Given the description of an element on the screen output the (x, y) to click on. 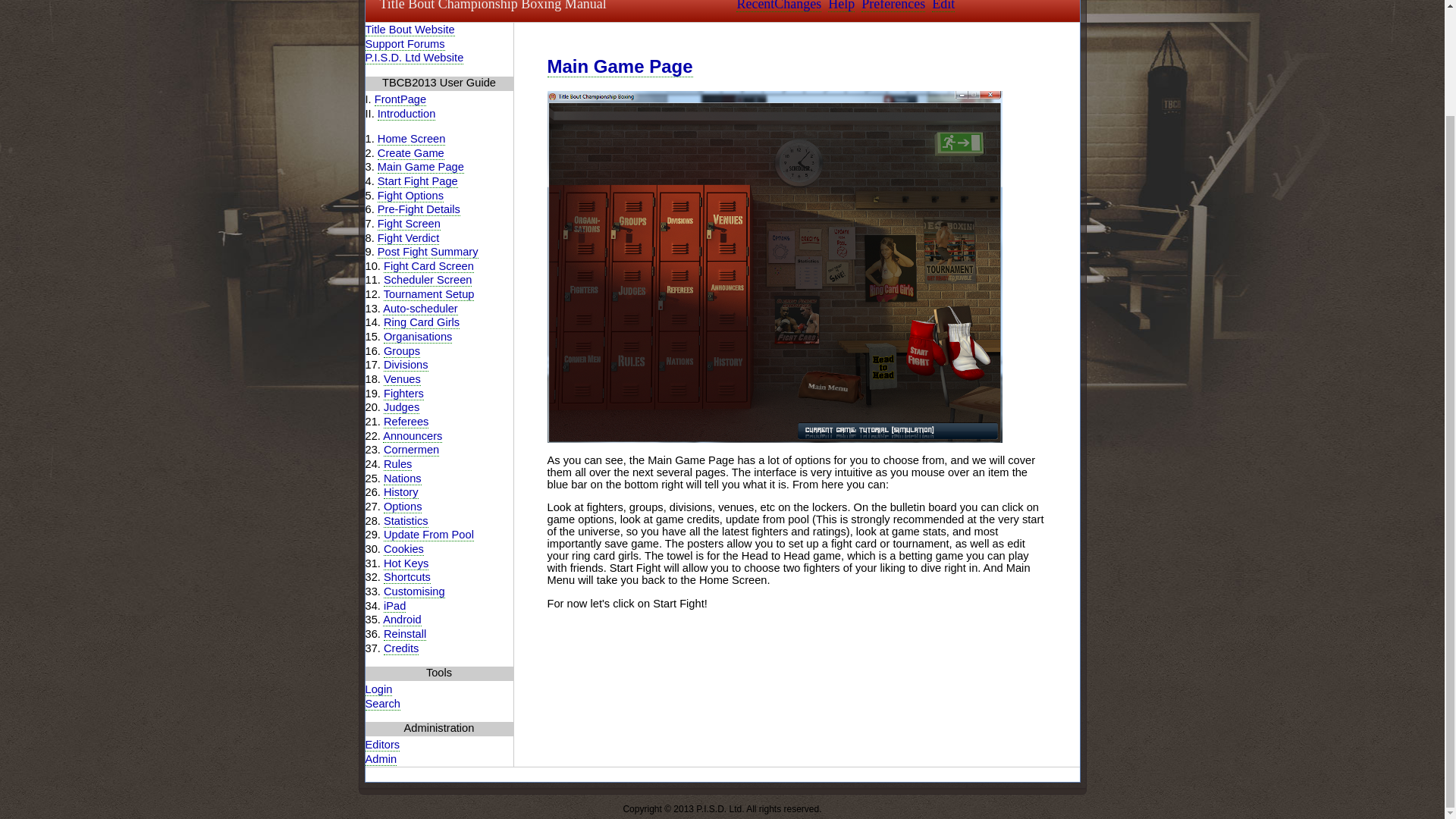
Organisations (417, 336)
Statistics (406, 521)
Announcers (412, 436)
Options (403, 506)
Nations (403, 478)
Auto-scheduler (420, 308)
Tournament Setup (429, 294)
Post Fight Summary (428, 251)
Edit (943, 6)
Fight Card Screen (429, 266)
Venues (402, 379)
Support Forums (405, 43)
Main Game Page (420, 166)
Rules (398, 463)
Ring Card Girls (422, 322)
